Given the description of an element on the screen output the (x, y) to click on. 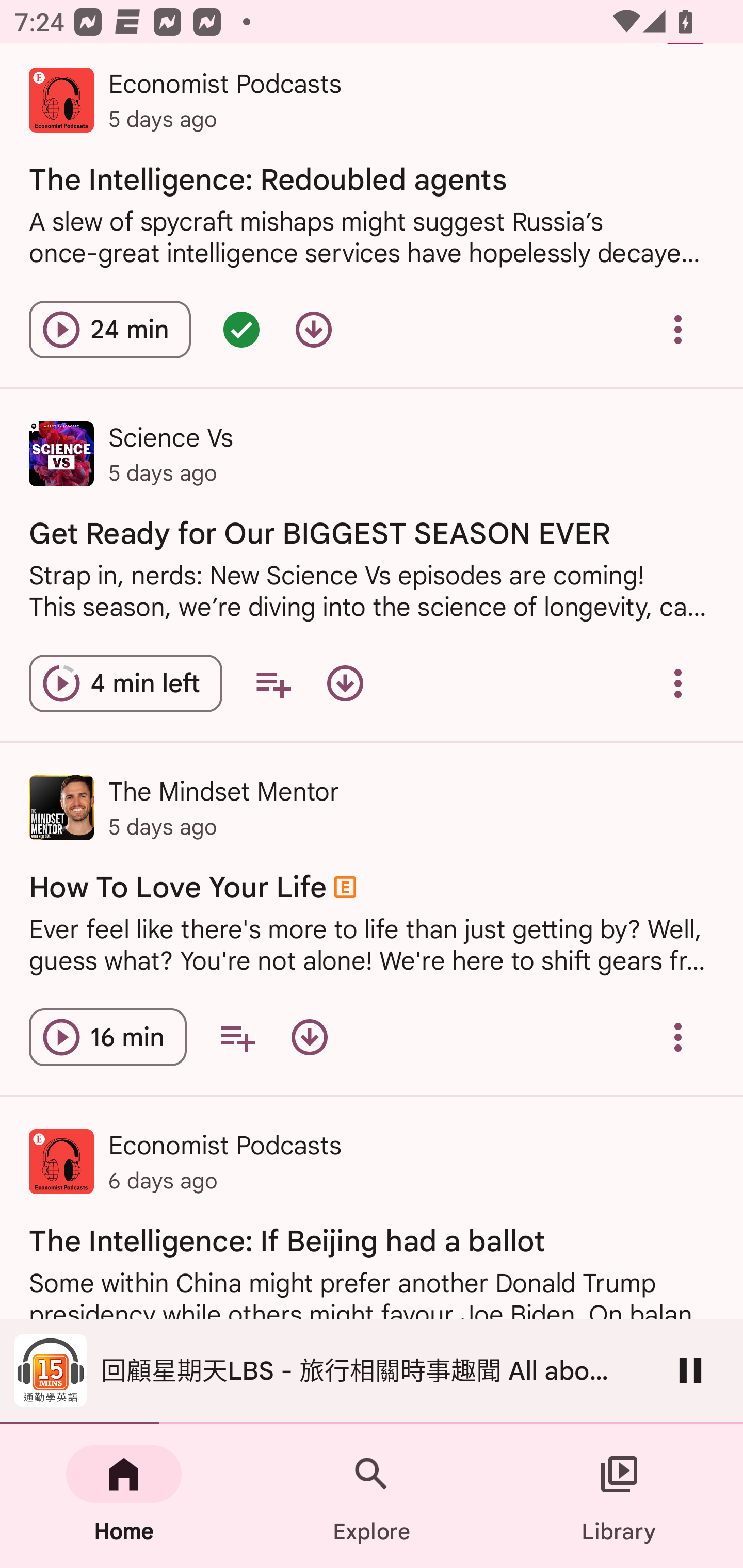
Episode queued - double tap for options (241, 329)
Download episode (313, 329)
Overflow menu (677, 329)
Add to your queue (273, 682)
Download episode (345, 682)
Overflow menu (677, 682)
Play episode How To Love Your Life 16 min (107, 1037)
Add to your queue (237, 1037)
Download episode (309, 1037)
Overflow menu (677, 1037)
Pause (690, 1370)
Explore (371, 1495)
Library (619, 1495)
